Given the description of an element on the screen output the (x, y) to click on. 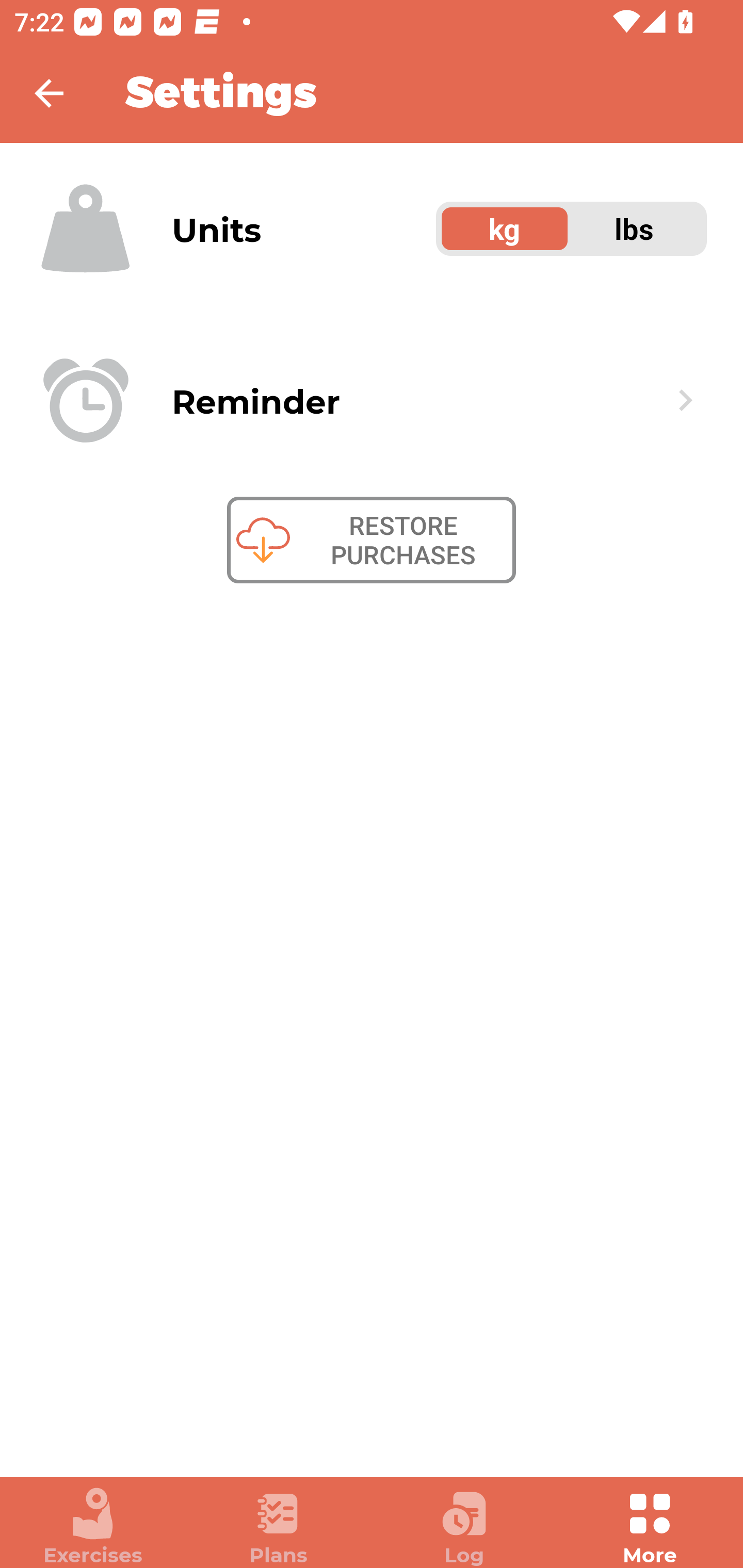
kg (504, 228)
lbs (634, 228)
Reminder (371, 400)
RESTORE PURCHASES (371, 540)
Exercises (92, 1527)
Plans (278, 1527)
Log (464, 1527)
More (650, 1527)
